Given the description of an element on the screen output the (x, y) to click on. 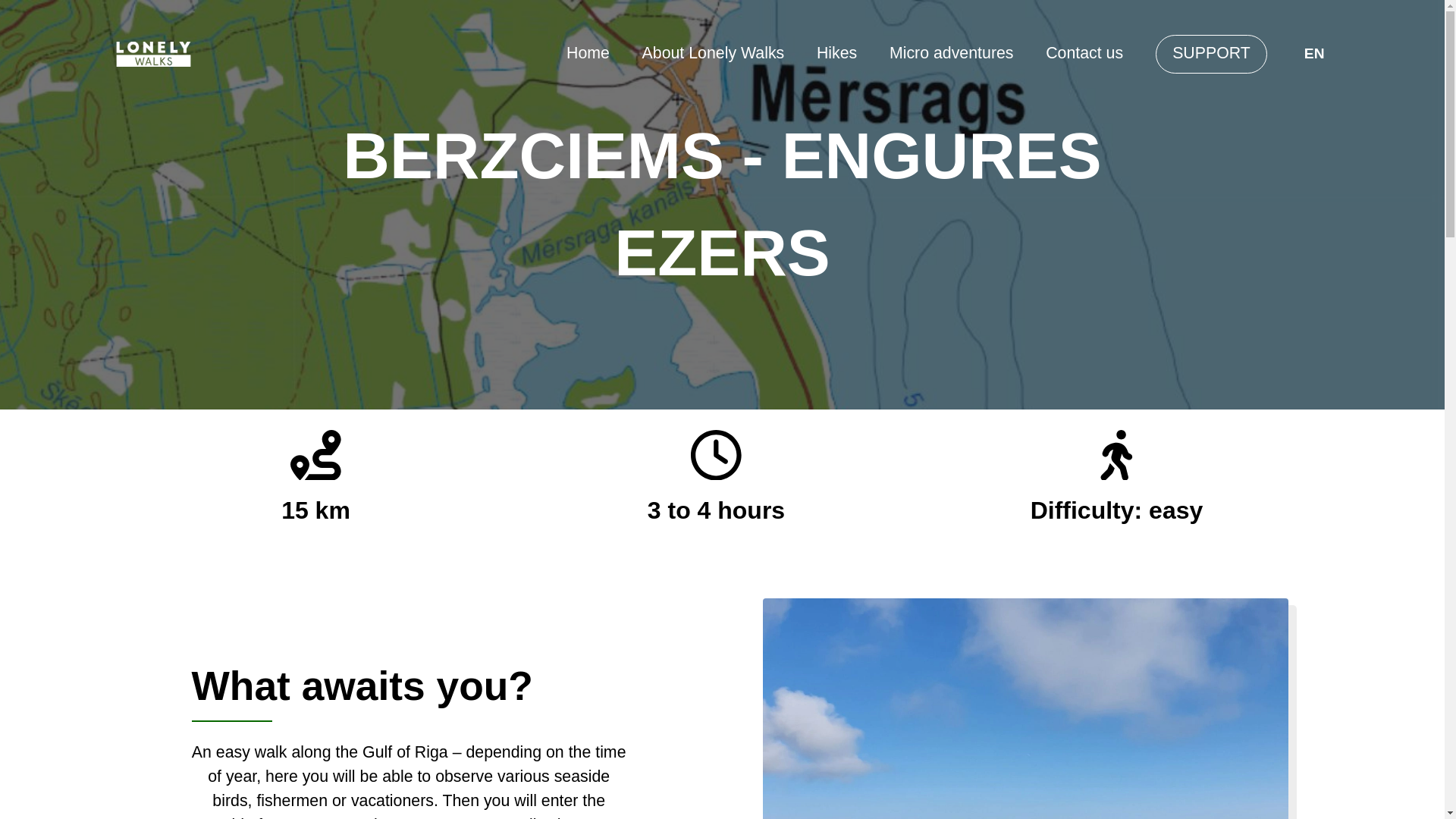
Contact us (1083, 53)
Hikes (836, 53)
Home (588, 53)
SUPPORT (1211, 53)
EN (1314, 53)
Micro adventures (951, 53)
About Lonely Walks (713, 53)
